Given the description of an element on the screen output the (x, y) to click on. 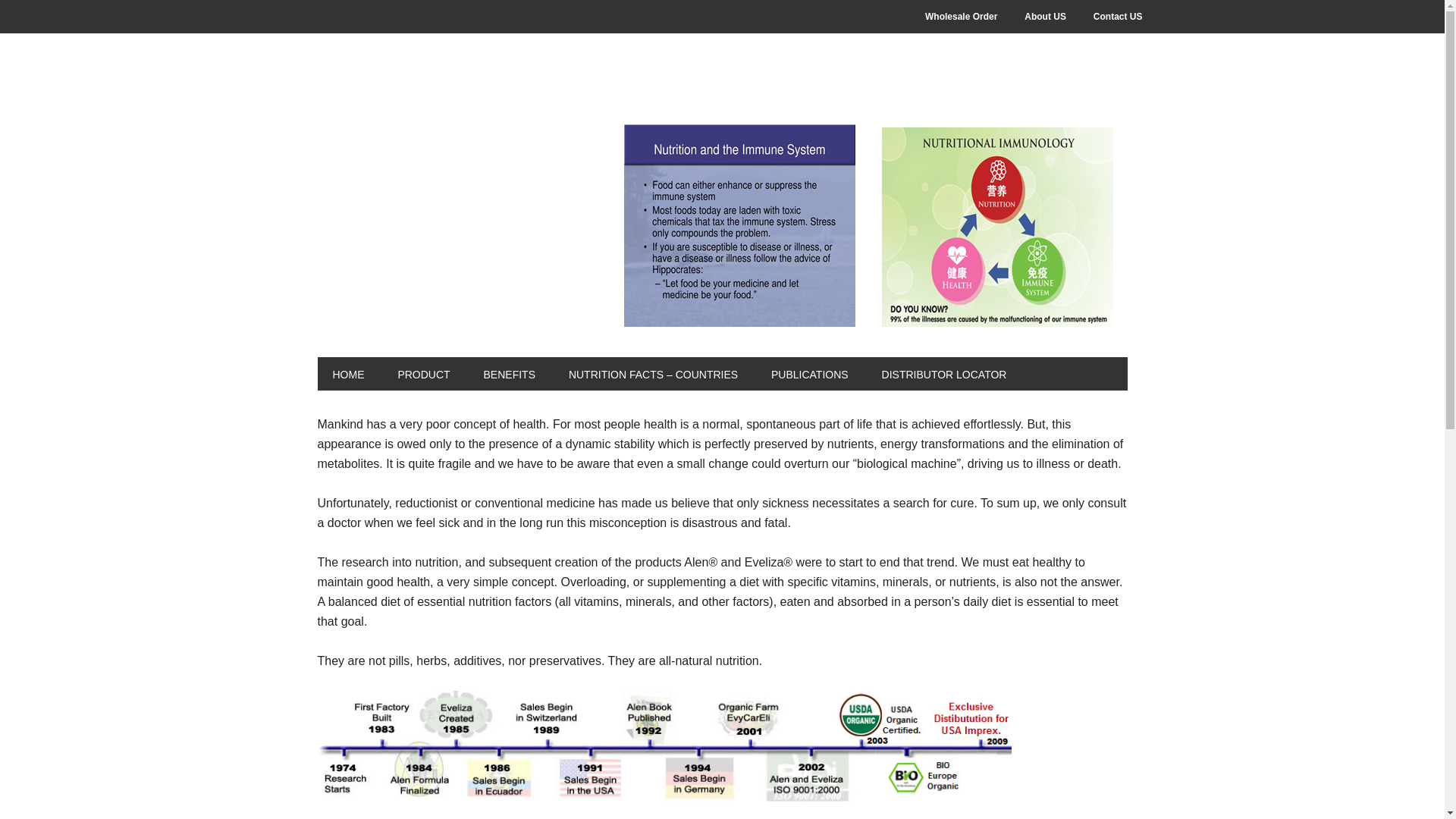
HOME (347, 373)
BENEFITS (509, 373)
Wholesale Order (960, 16)
PUBLICATIONS (809, 373)
DISTRIBUTOR LOCATOR (944, 373)
About US (1044, 16)
PRODUCT (422, 373)
Contact US (1117, 16)
